Given the description of an element on the screen output the (x, y) to click on. 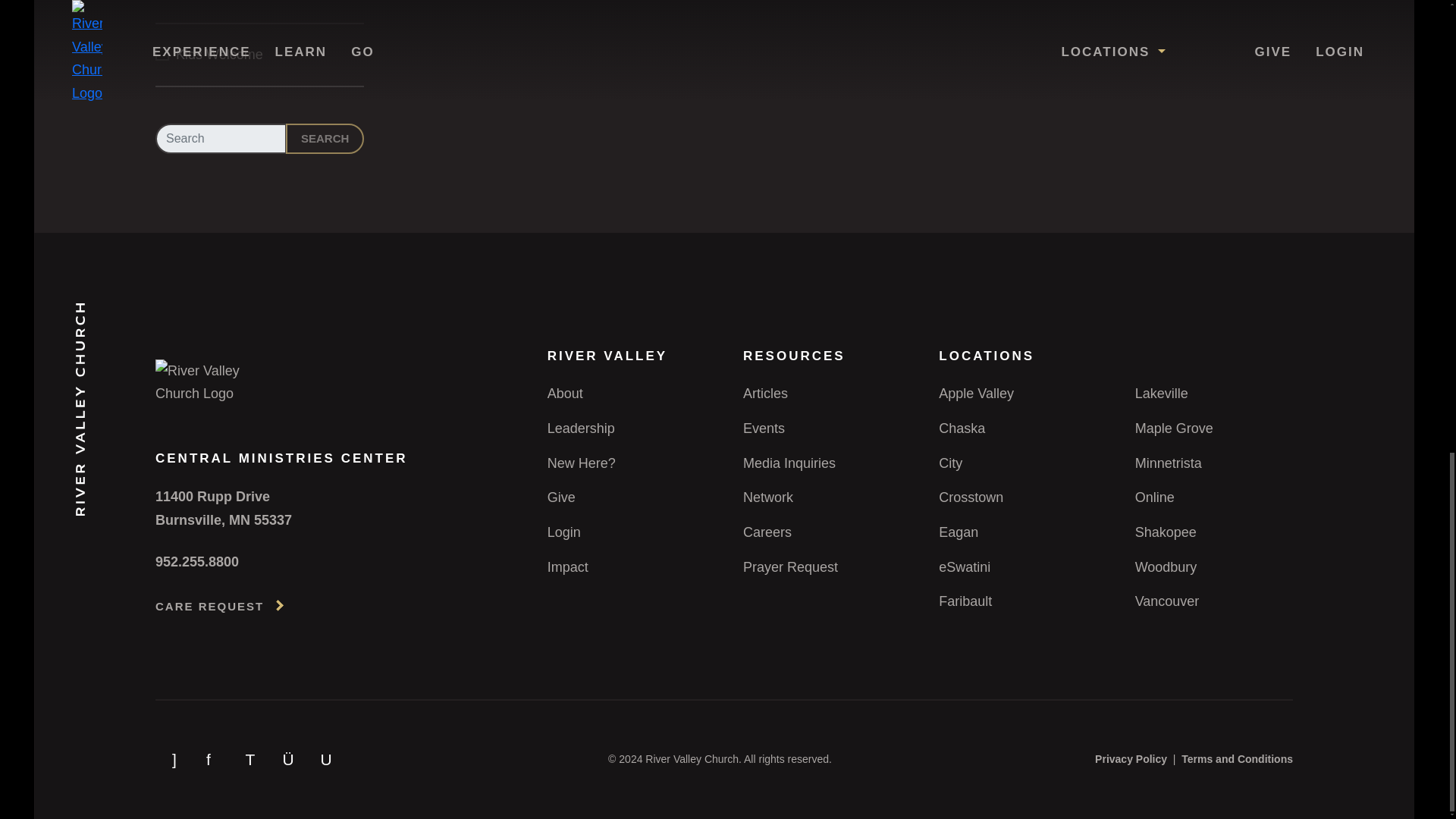
Search (324, 138)
